Given the description of an element on the screen output the (x, y) to click on. 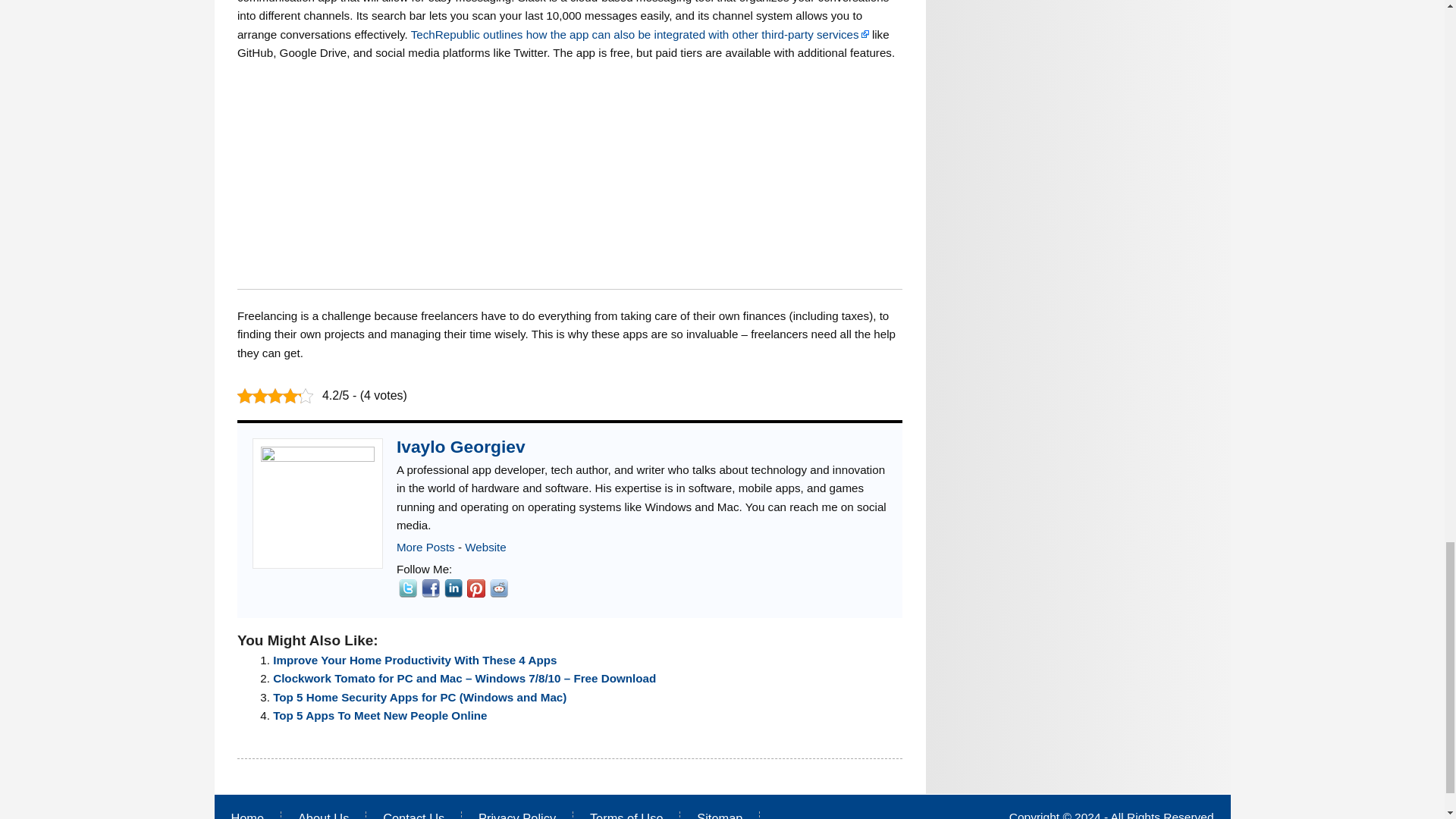
Ivaylo Georgiev (460, 446)
More Posts (425, 546)
More posts by Ivaylo Georgiev (425, 546)
Improve Your Home Productivity With These 4 Apps (414, 659)
Top 5 Apps To Meet New People Online (379, 715)
Ivaylo Georgiev (460, 446)
Website (485, 546)
Improve Your Home Productivity With These 4 Apps (414, 659)
